Given the description of an element on the screen output the (x, y) to click on. 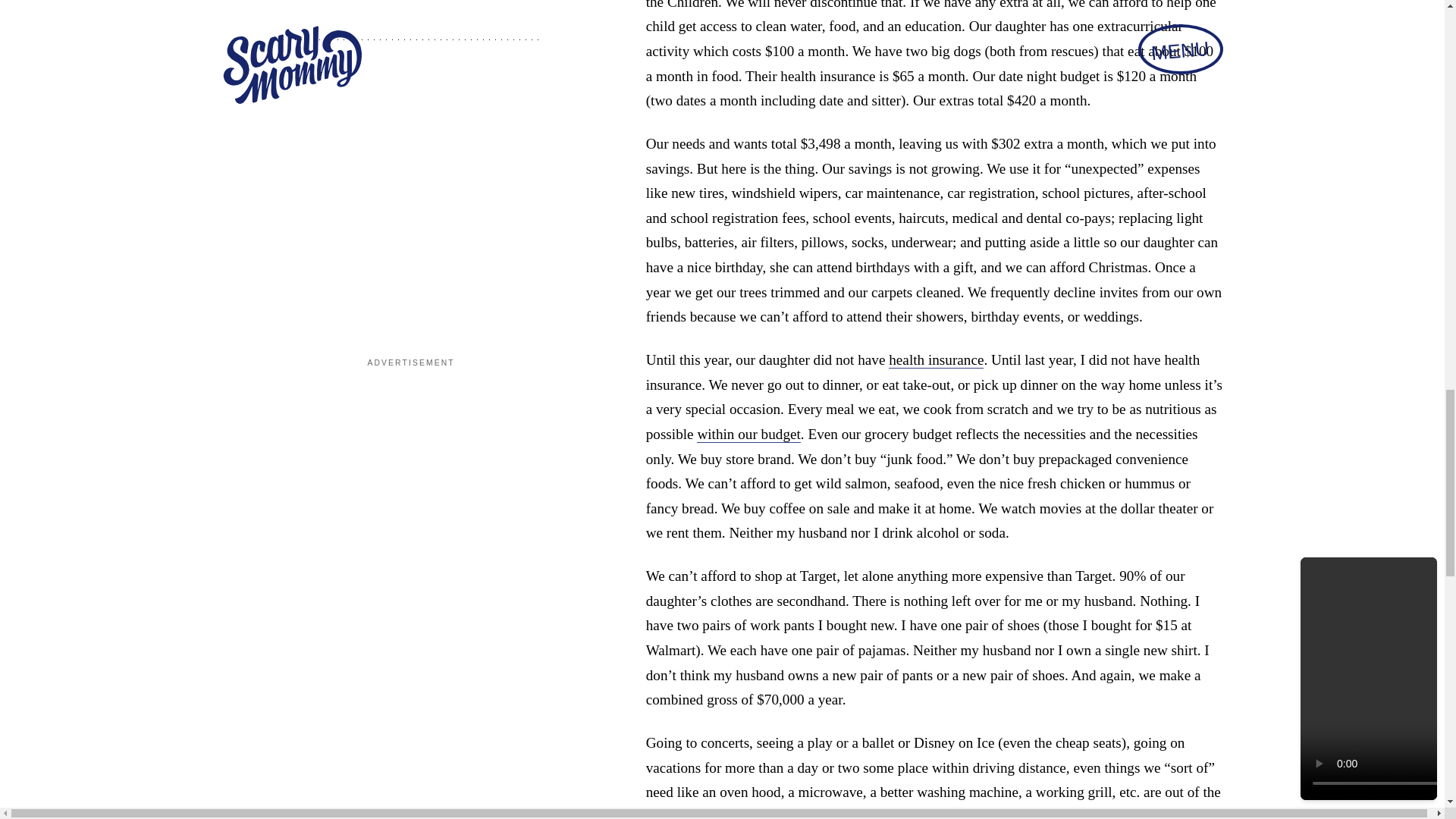
health insurance (936, 360)
within our budget (748, 434)
